Given the description of an element on the screen output the (x, y) to click on. 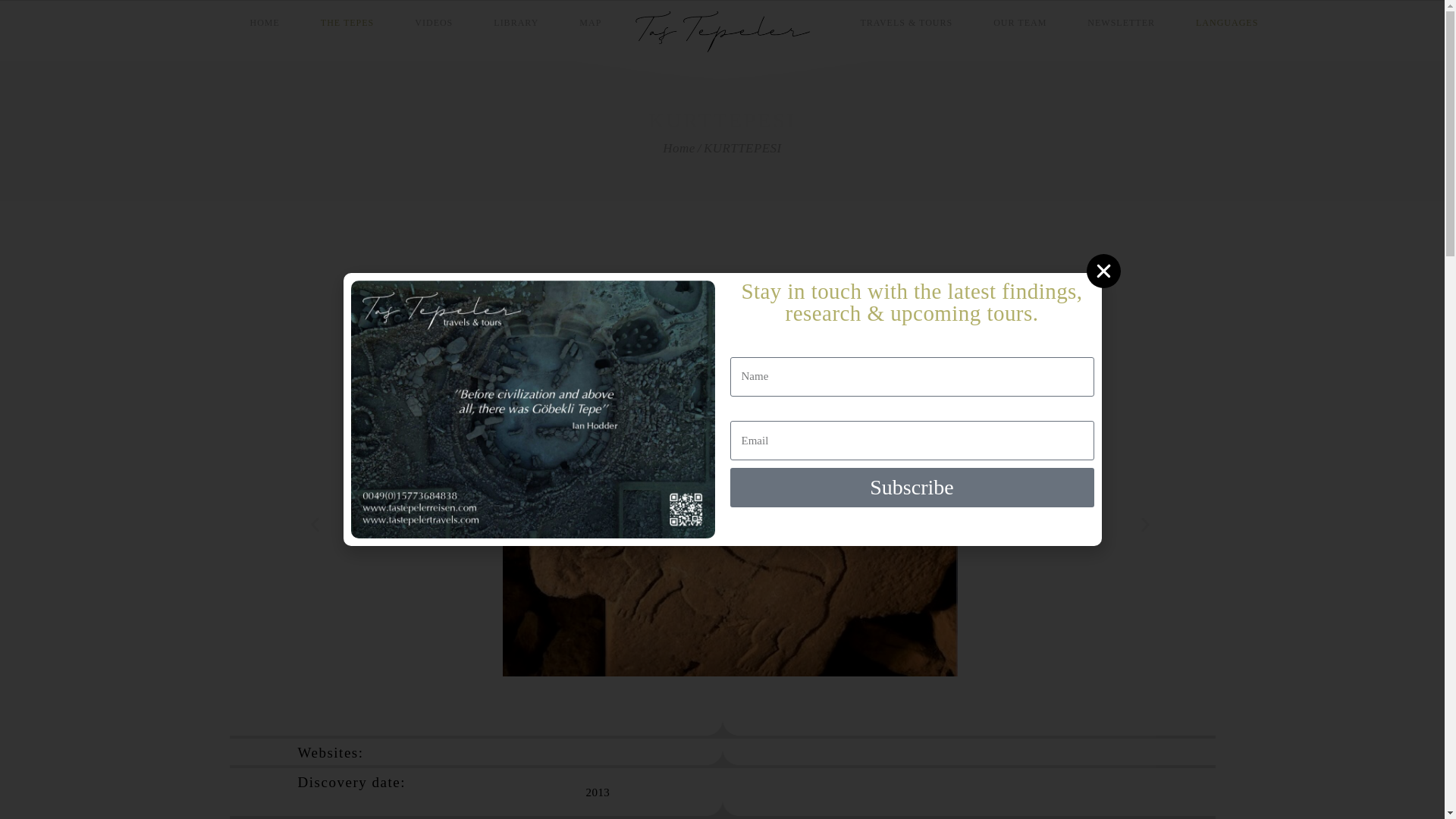
THE TEPES (367, 22)
HOME (284, 22)
